Given the description of an element on the screen output the (x, y) to click on. 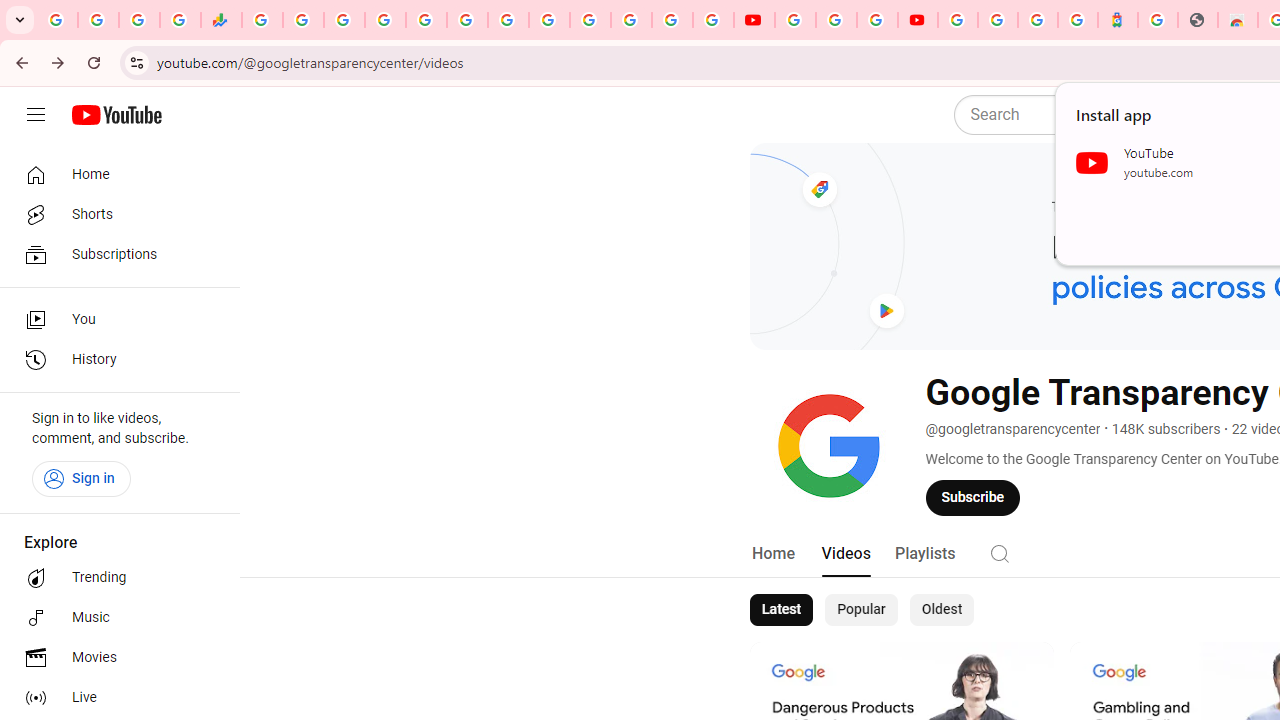
Chrome Web Store - Household (1238, 20)
Home (772, 553)
Movies (113, 657)
Google Workspace Admin Community (57, 20)
Oldest (941, 609)
Content Creator Programs & Opportunities - YouTube Creators (918, 20)
Privacy Checkup (712, 20)
YouTube (795, 20)
Guide (35, 115)
